Given the description of an element on the screen output the (x, y) to click on. 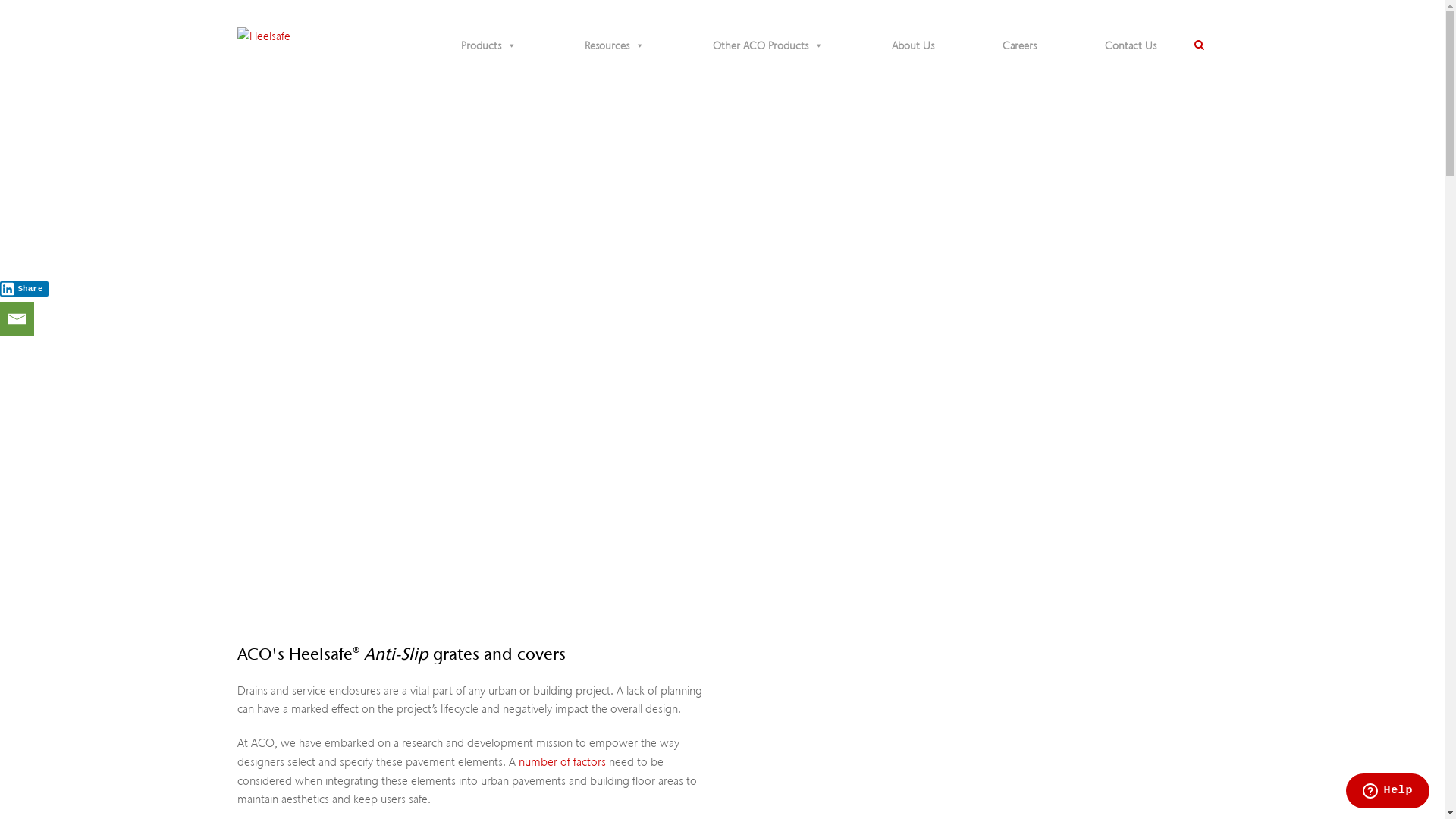
Email Element type: hover (17, 318)
Products Element type: text (488, 45)
Resources Element type: text (613, 45)
Other ACO Products Element type: text (767, 45)
Contact Us Element type: text (1129, 45)
Careers Element type: text (1019, 45)
Opens a widget where you can chat to one of our agents Element type: hover (1387, 792)
Share Element type: text (24, 288)
number of factors Element type: text (561, 761)
About Us Element type: text (912, 45)
